Given the description of an element on the screen output the (x, y) to click on. 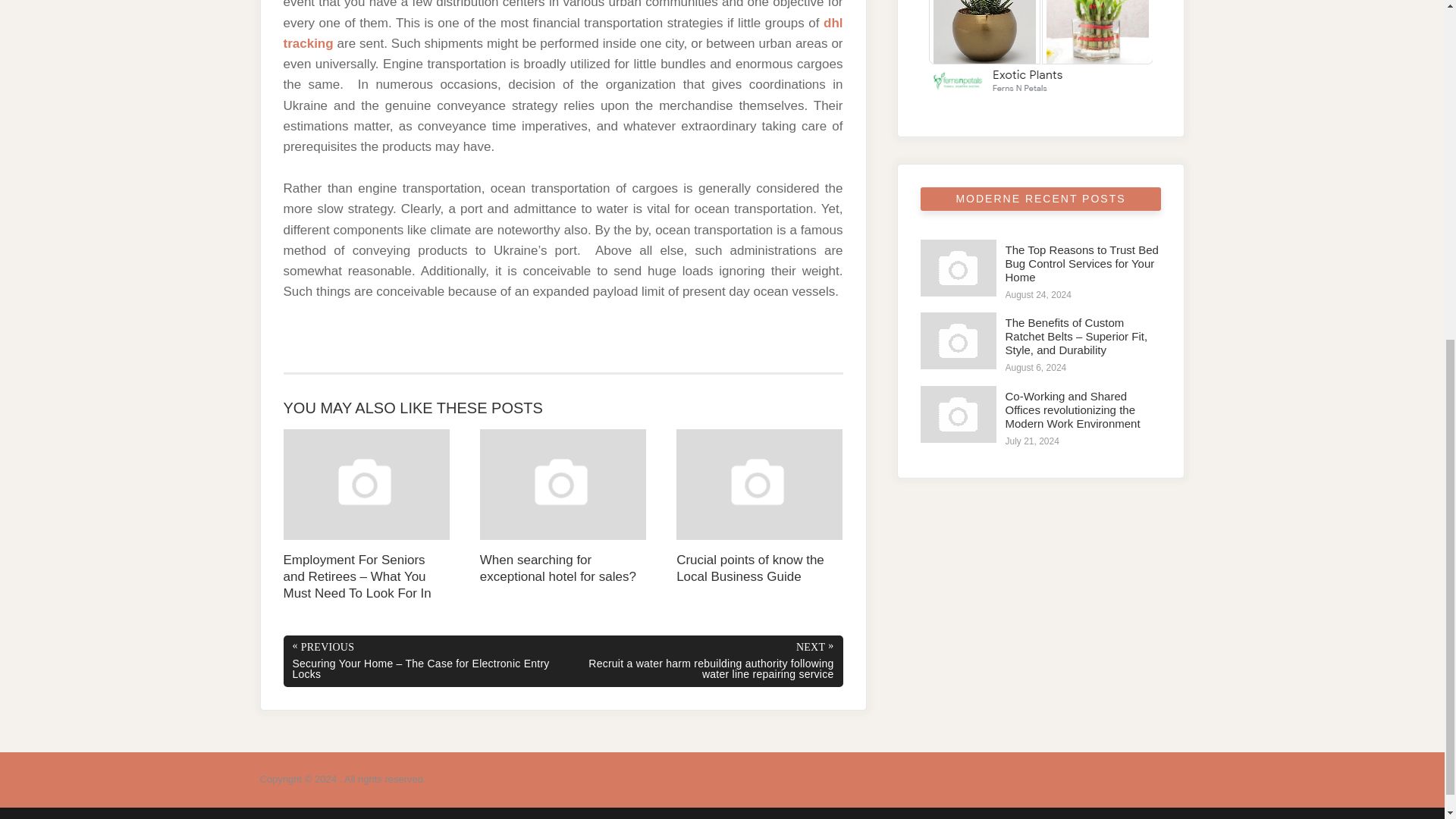
When searching for exceptional hotel for sales? (563, 506)
dhl tracking (563, 32)
Crucial points of know the Local Business Guide (760, 506)
When searching for exceptional hotel for sales? (563, 506)
Crucial points of know the Local Business Guide (760, 506)
